Given the description of an element on the screen output the (x, y) to click on. 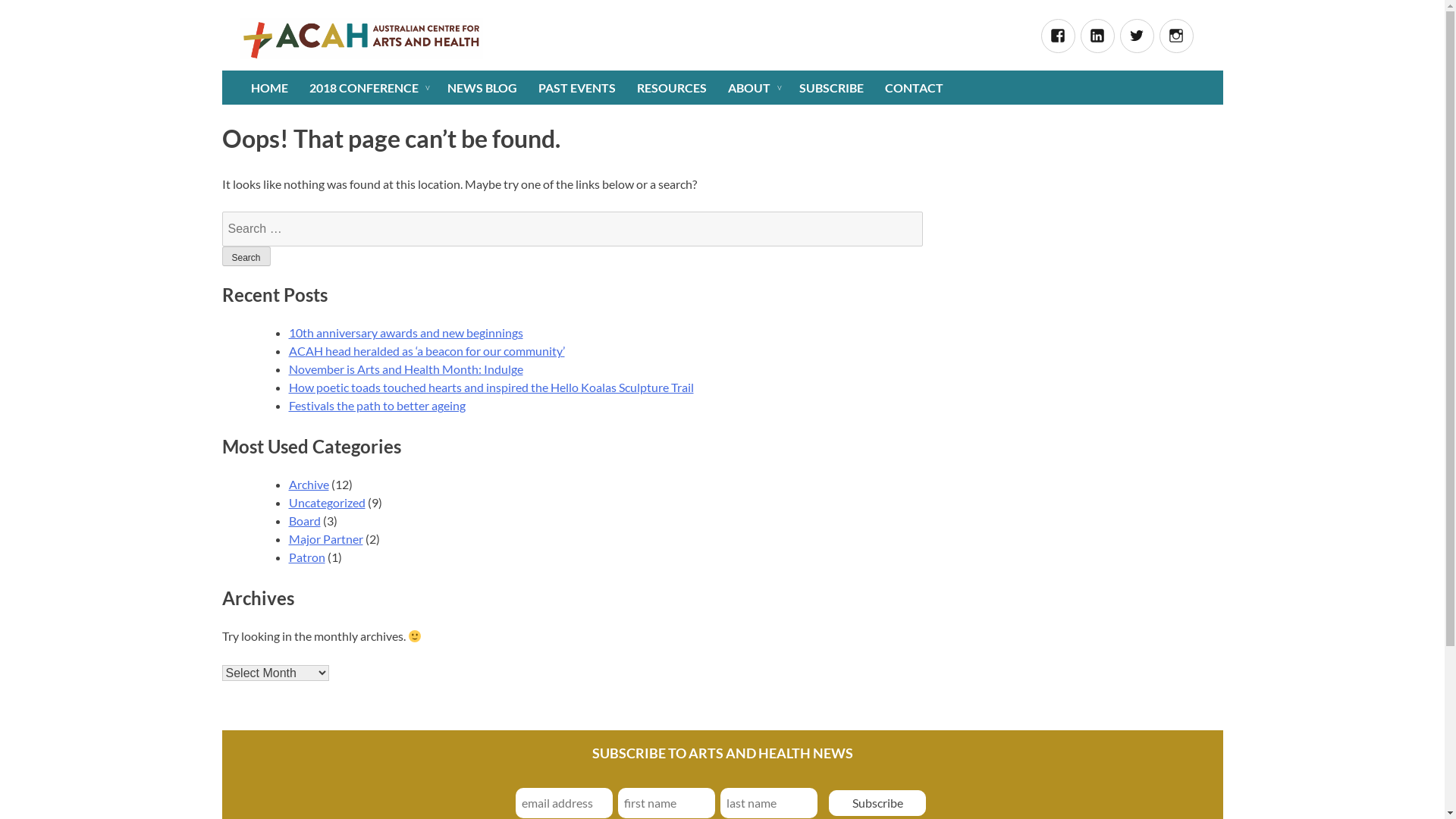
Uncategorized Element type: text (326, 502)
HOME Element type: text (268, 87)
Search Element type: text (245, 256)
SUBSCRIBE Element type: text (831, 87)
CONTACT Element type: text (913, 87)
Facebook Element type: text (1057, 35)
ABOUT Element type: text (752, 87)
2018 CONFERENCE Element type: text (367, 87)
RESOURCES Element type: text (671, 87)
November is Arts and Health Month: Indulge Element type: text (405, 368)
NEWS BLOG Element type: text (481, 87)
Major Partner Element type: text (325, 538)
10th anniversary awards and new beginnings Element type: text (405, 332)
Festivals the path to better ageing Element type: text (376, 405)
Subscribe Element type: text (876, 802)
Linked In Element type: text (1096, 35)
Instagram Element type: text (1175, 35)
Patron Element type: text (306, 556)
PAST EVENTS Element type: text (576, 87)
Twitter Element type: text (1136, 35)
Board Element type: text (304, 520)
Archive Element type: text (308, 483)
